Given the description of an element on the screen output the (x, y) to click on. 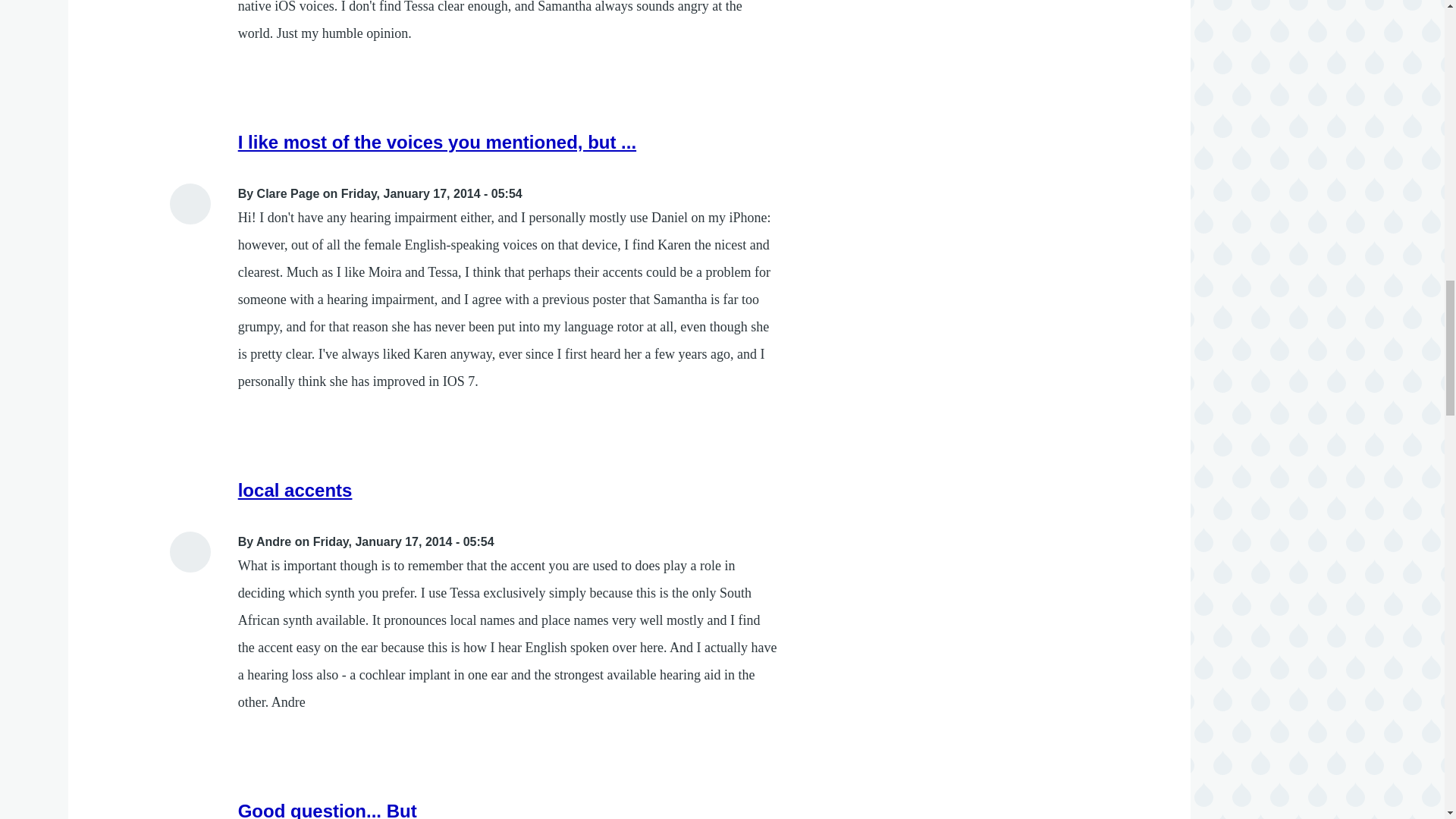
local accents (295, 489)
Good question... But (327, 809)
I like most of the voices you mentioned, but ... (437, 141)
